Given the description of an element on the screen output the (x, y) to click on. 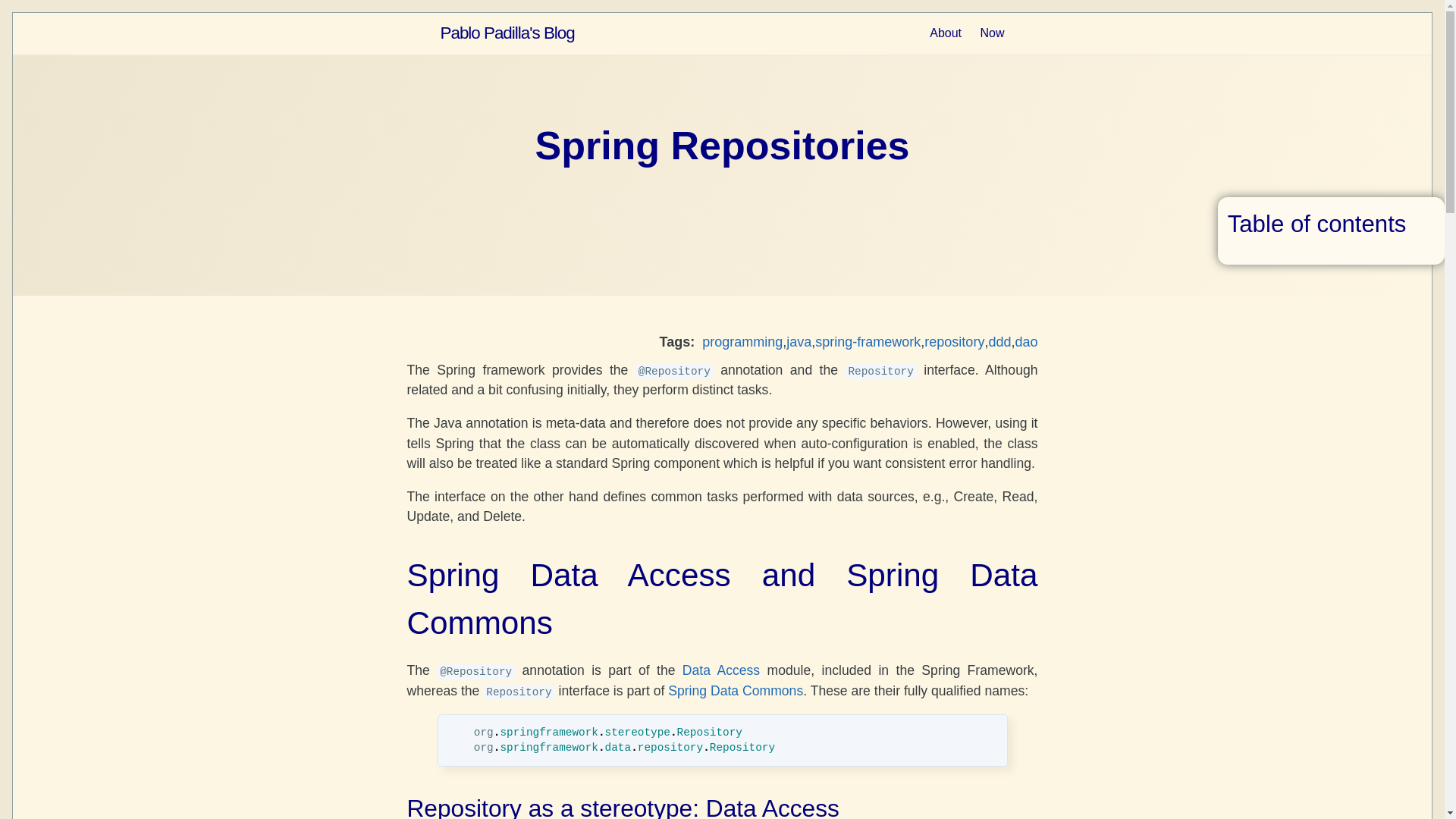
java (798, 346)
Data Access (721, 670)
About (945, 32)
Now (991, 32)
spring-framework (867, 346)
Spring Data Commons (735, 690)
repository (954, 346)
Pablo Padilla's Blog (506, 33)
programming (742, 346)
